Given the description of an element on the screen output the (x, y) to click on. 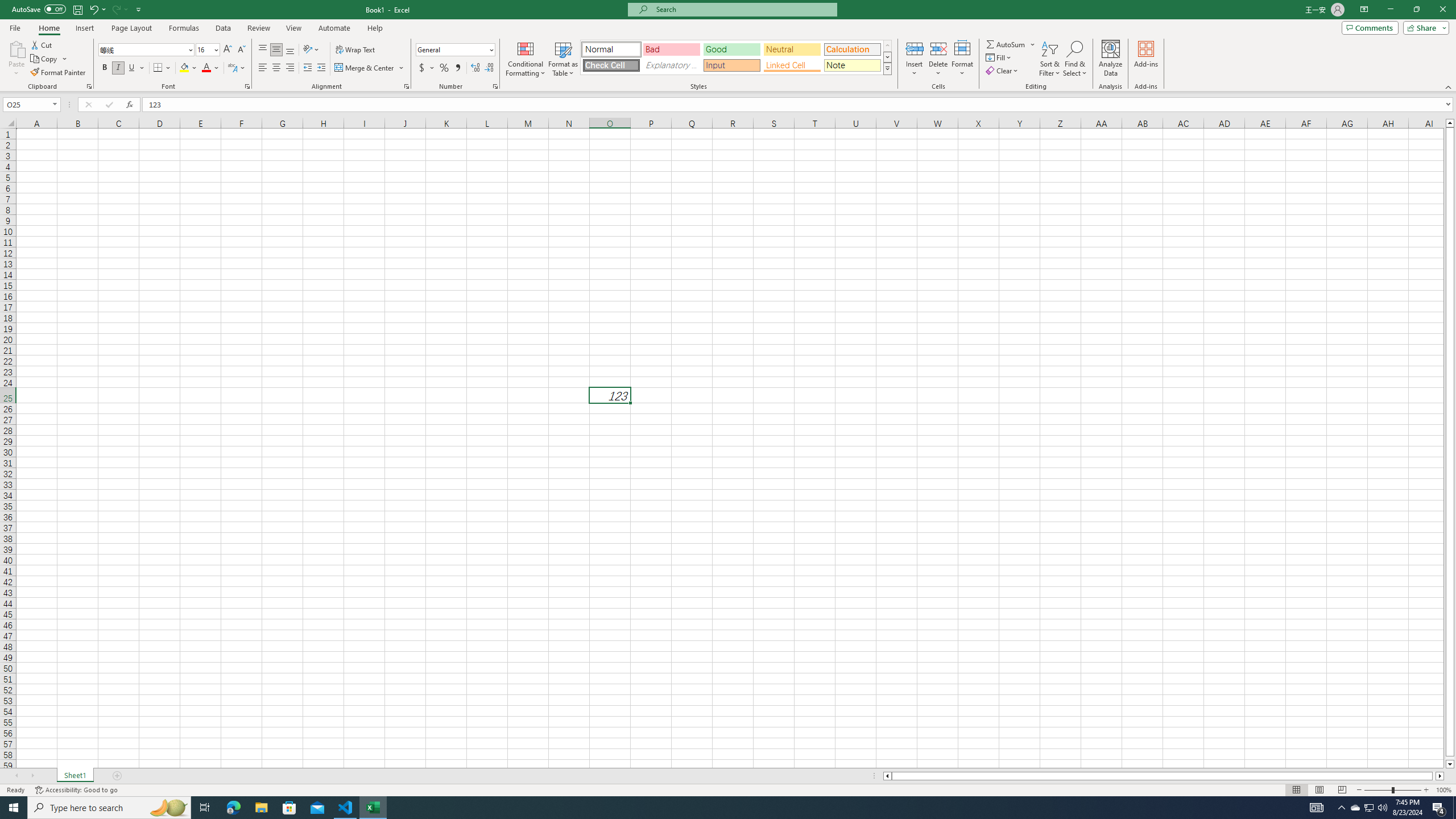
Number Format (451, 49)
Align Right (290, 67)
Sort & Filter (1049, 58)
Cut (42, 44)
Format Painter (58, 72)
Input (731, 65)
Linked Cell (791, 65)
